Given the description of an element on the screen output the (x, y) to click on. 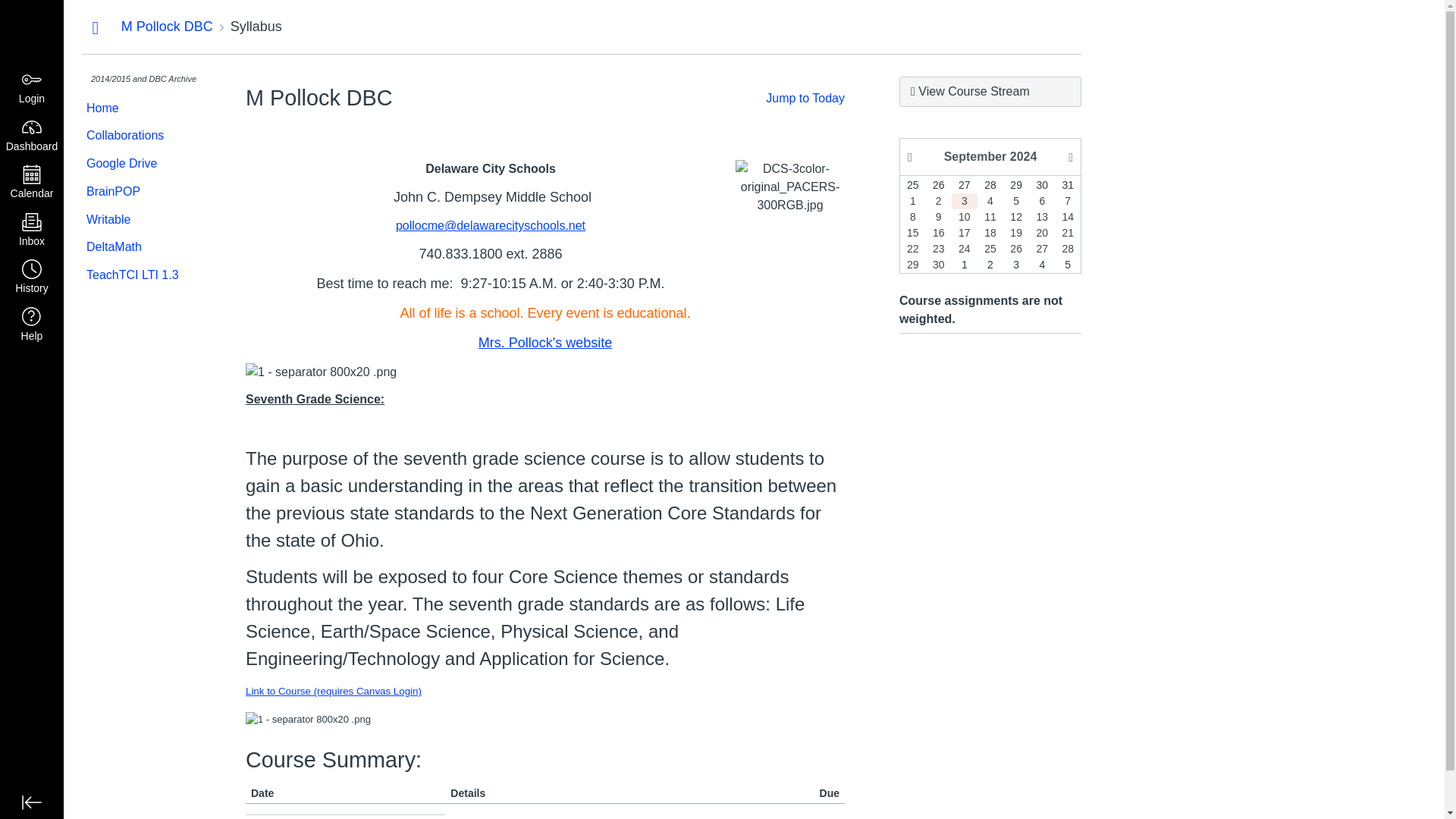
View Course Stream (990, 91)
Mrs. Pollock's website (545, 342)
Google Drive (140, 163)
Writable (140, 220)
Login (32, 88)
BrainPOP (140, 192)
History (32, 277)
Collaborations (140, 135)
Calendar (32, 182)
DeltaMath (140, 247)
